Given the description of an element on the screen output the (x, y) to click on. 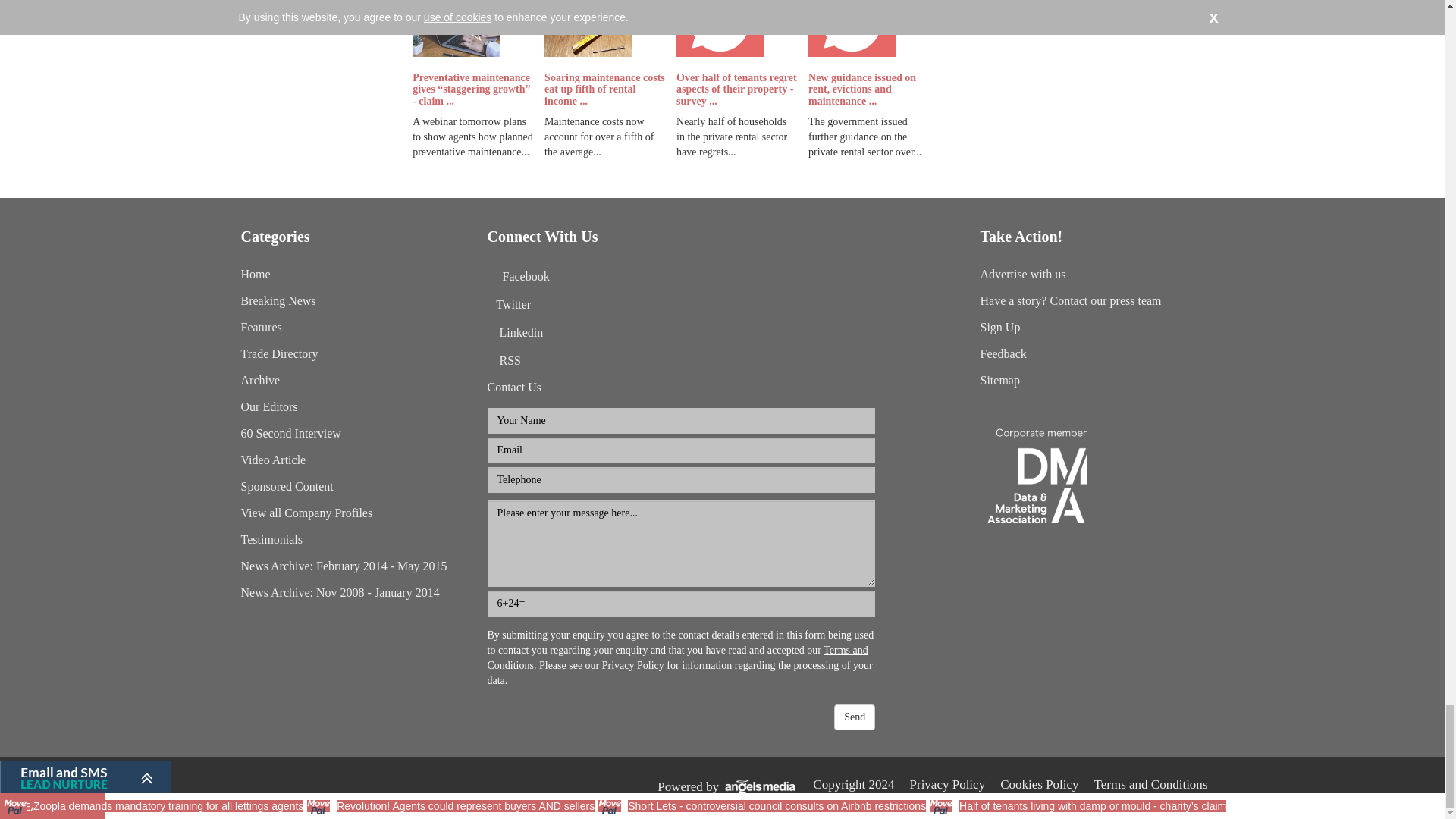
Send (854, 717)
